Given the description of an element on the screen output the (x, y) to click on. 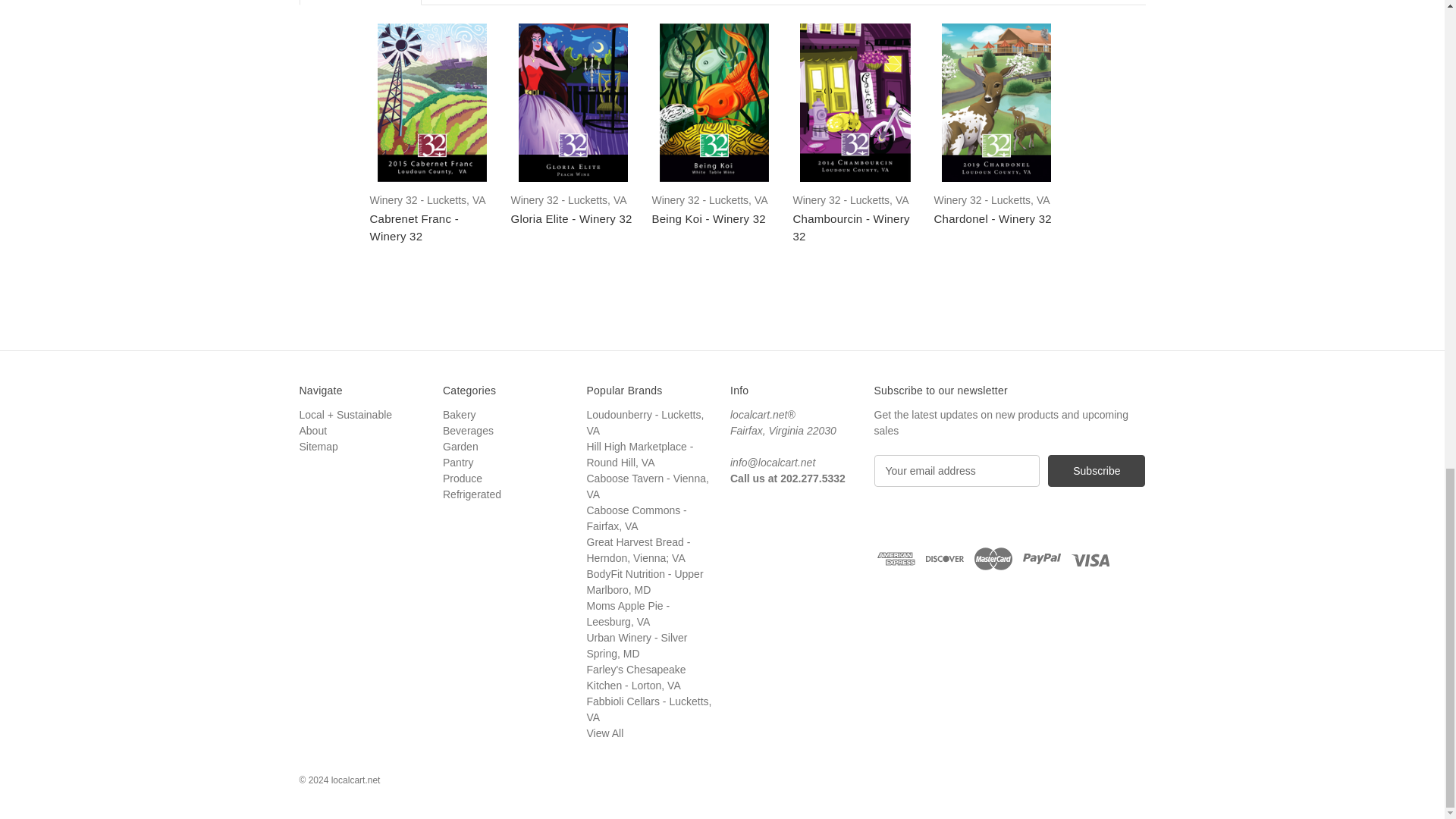
Subscribe (1096, 470)
